Given the description of an element on the screen output the (x, y) to click on. 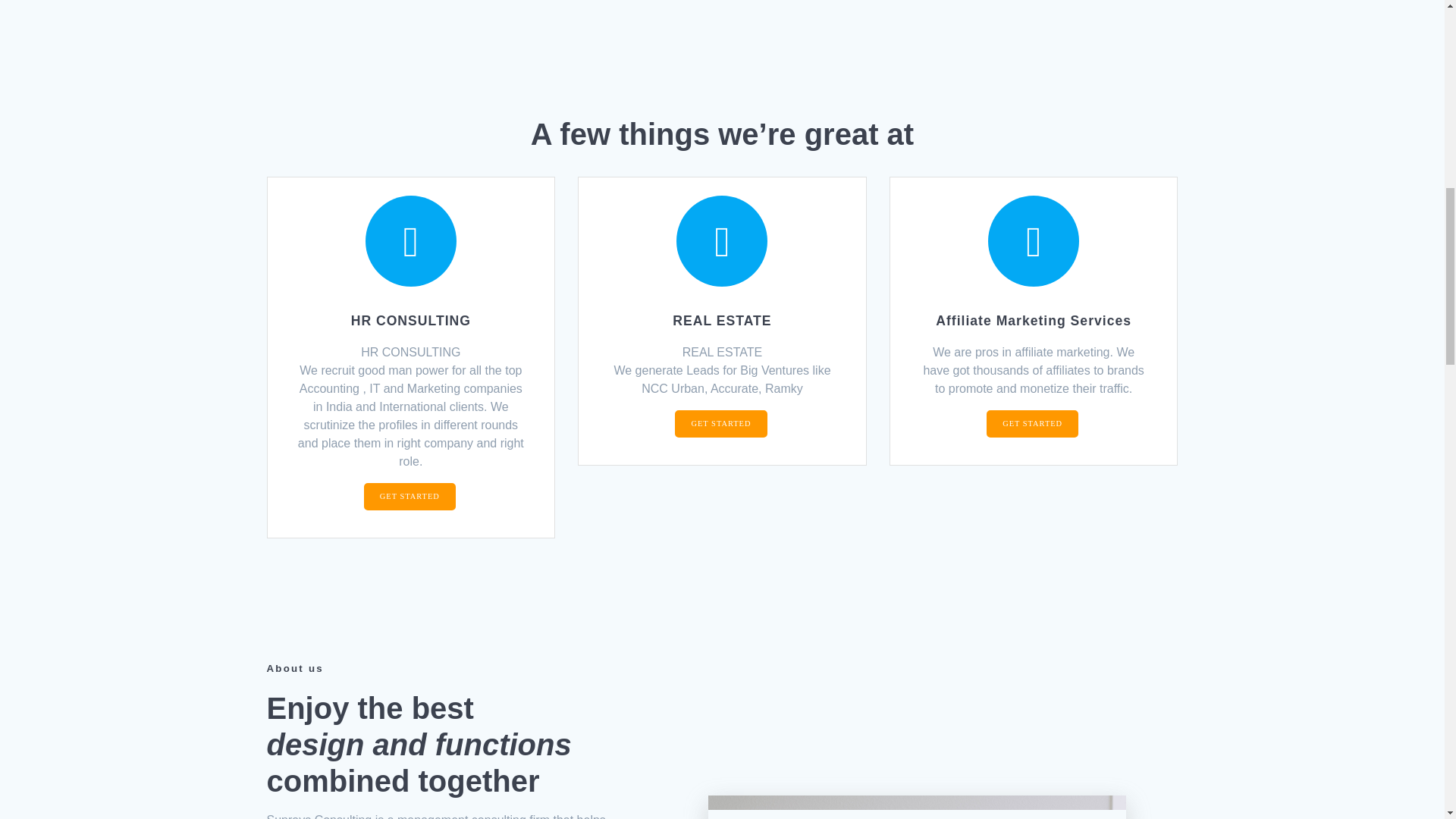
GET STARTED (409, 496)
GET STARTED (721, 423)
Payroll Services (916, 807)
GET STARTED (1032, 423)
